Given the description of an element on the screen output the (x, y) to click on. 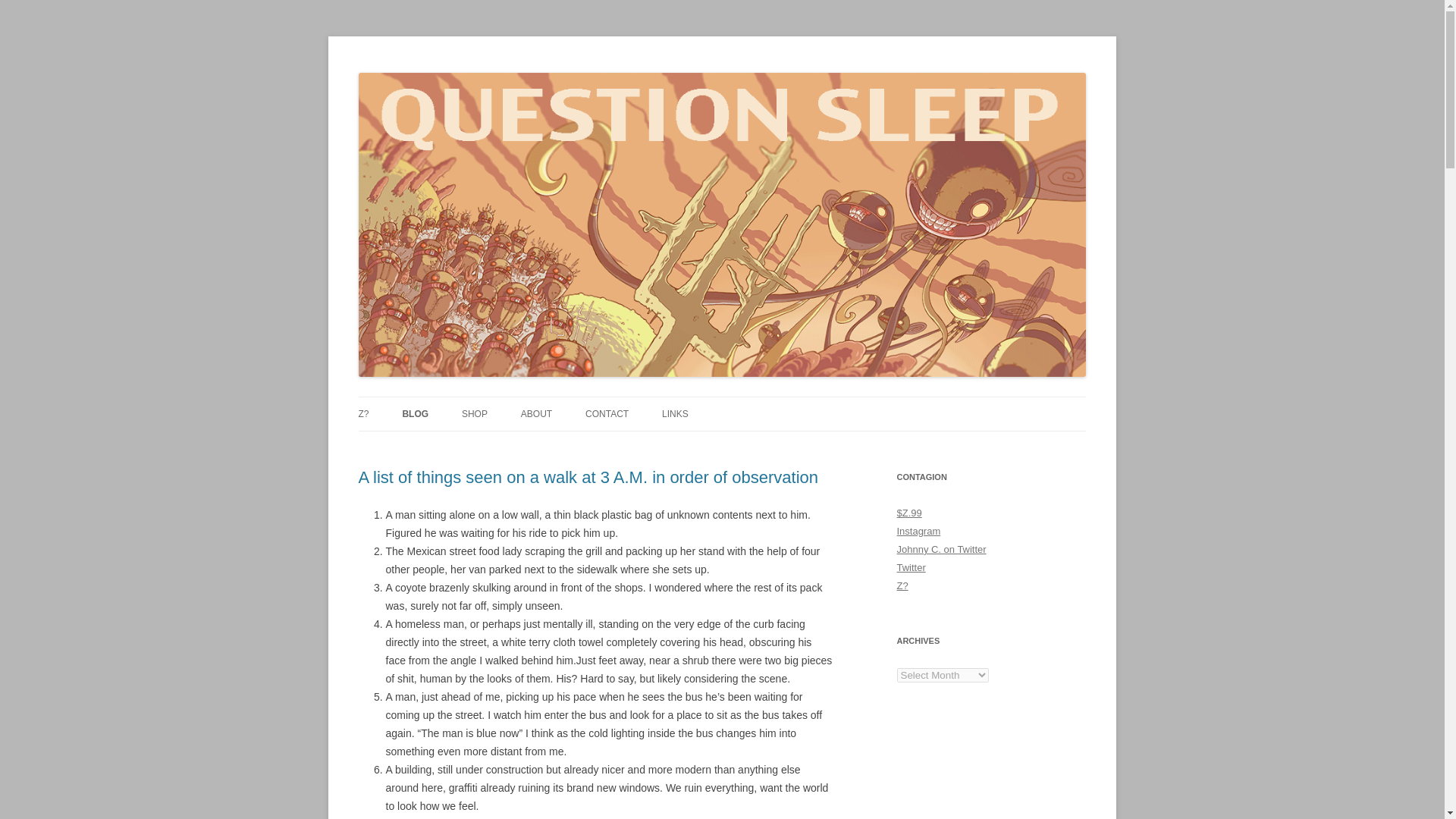
the man behind the legend (536, 413)
CONTACT (606, 413)
Skip to content (757, 401)
Skip to content (757, 401)
QUESTION SLEEP (444, 72)
QUESTION SLEEP (444, 72)
ABOUT (536, 413)
